Given the description of an element on the screen output the (x, y) to click on. 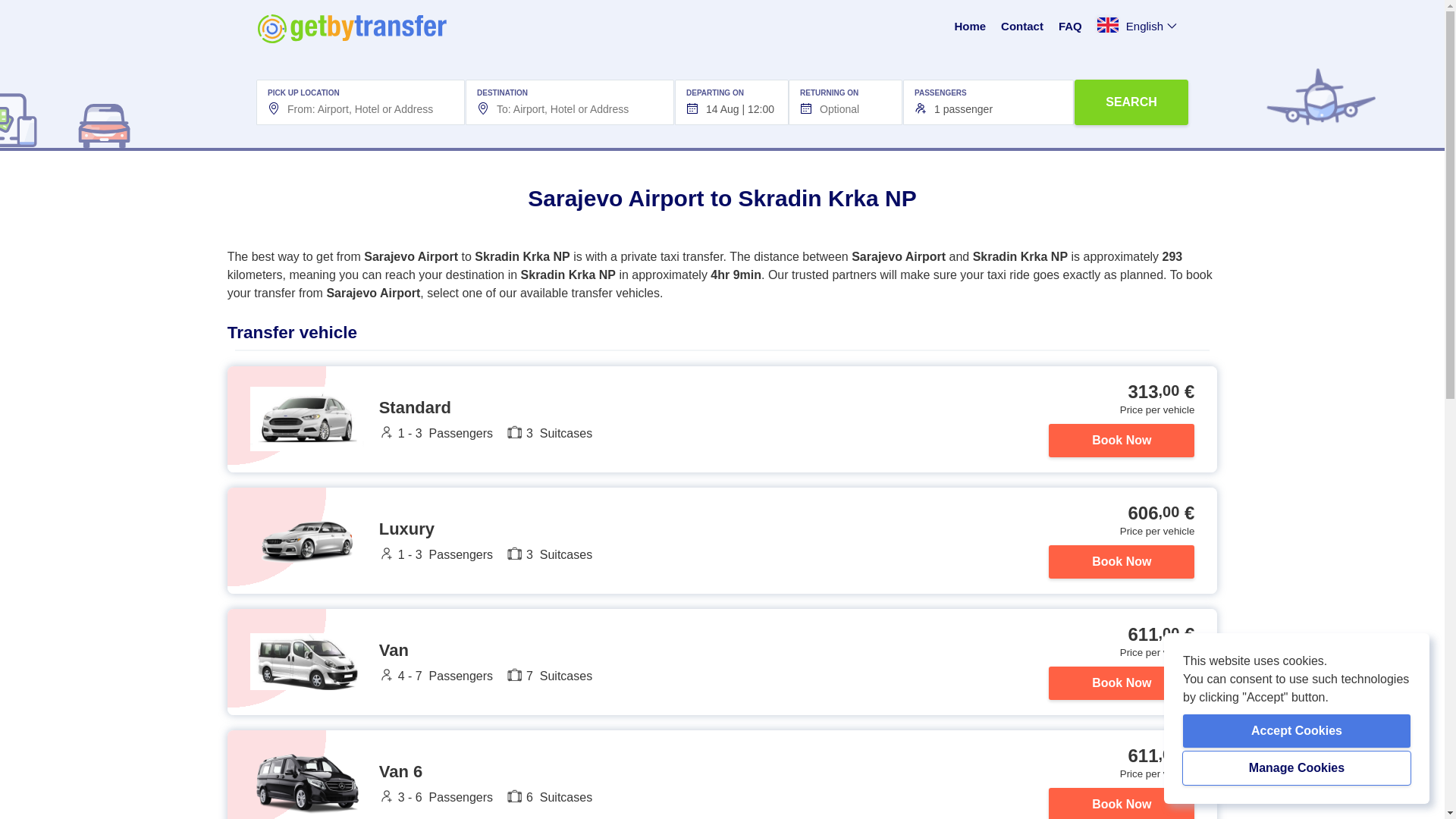
Manage Cookies (1296, 767)
Book Now (1120, 561)
Book Now (1120, 803)
Book Now (1120, 682)
SEARCH (1131, 102)
English (1138, 26)
Book Now (1120, 439)
1 passenger (988, 102)
Accept Cookies (1296, 730)
